Given the description of an element on the screen output the (x, y) to click on. 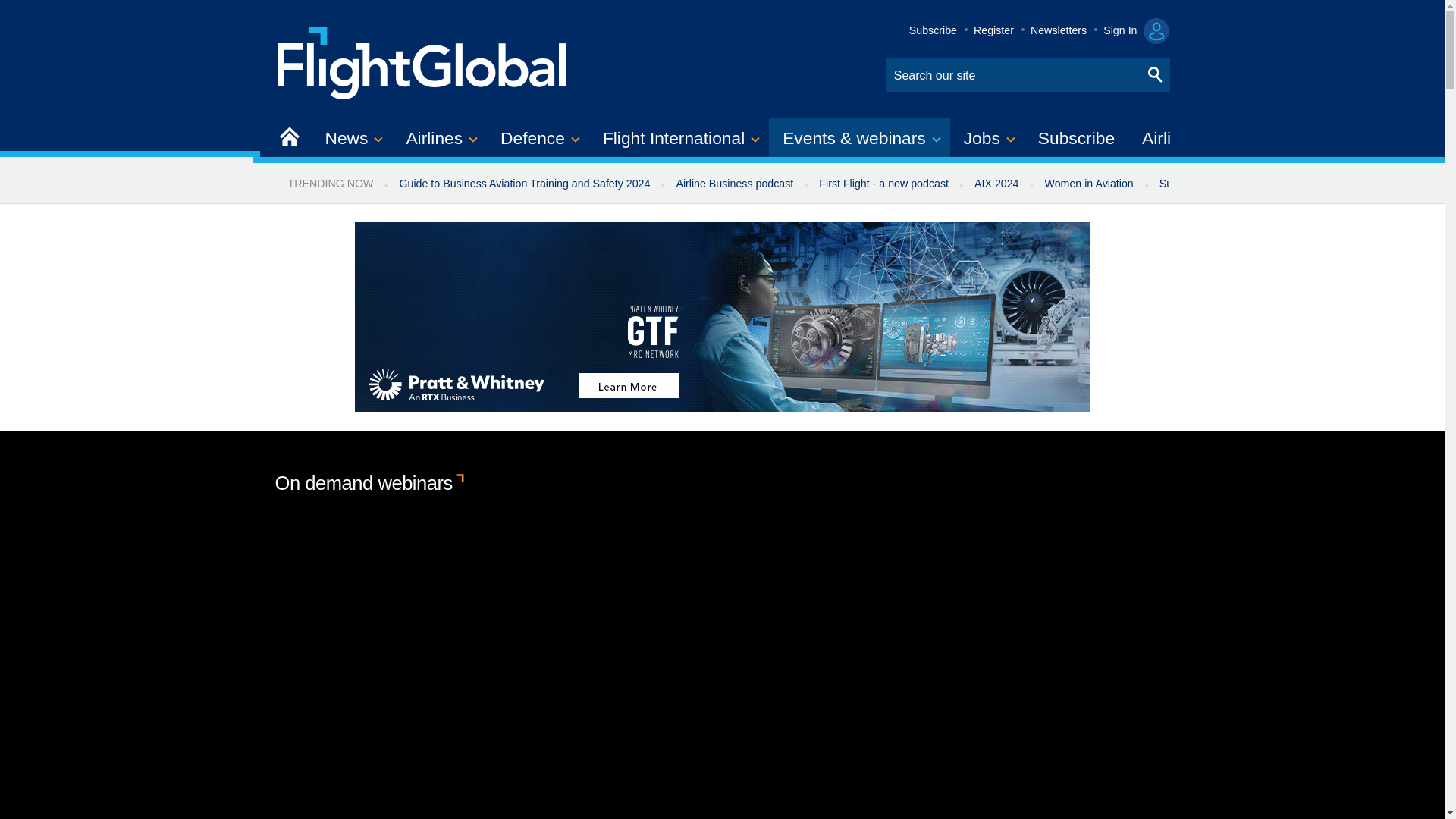
Guide to Business Aviation Training and Safety 2024 (523, 183)
First Flight - a new podcast (883, 183)
Women in Aviation (1089, 183)
Airline Business podcast (734, 183)
Sustainable Aviation newsletter (1234, 183)
Site name (422, 60)
AIX 2024 (996, 183)
